Given the description of an element on the screen output the (x, y) to click on. 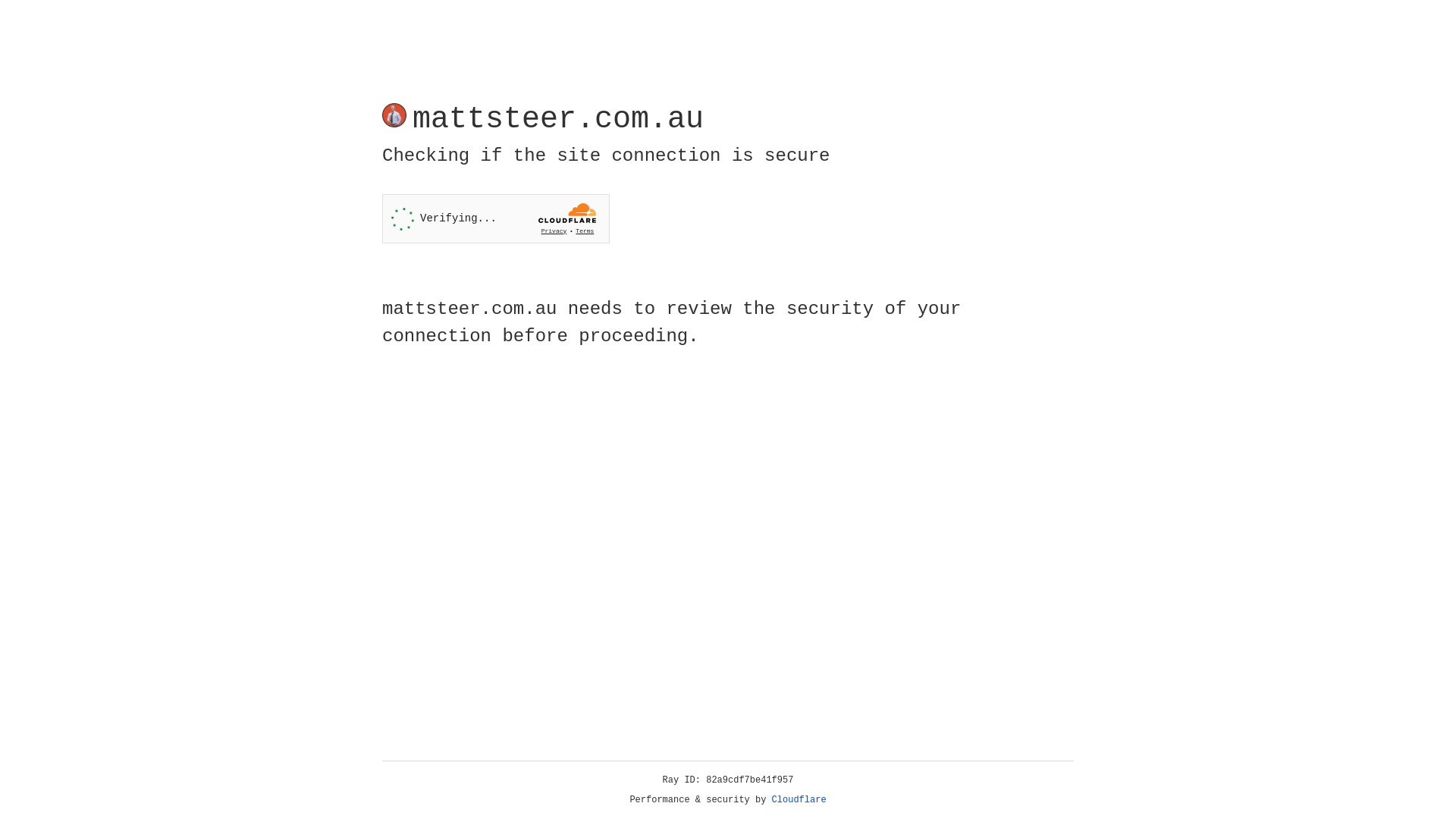
Cloudflare Element type: text (798, 799)
Widget containing a Cloudflare security challenge Element type: hover (495, 218)
